Given the description of an element on the screen output the (x, y) to click on. 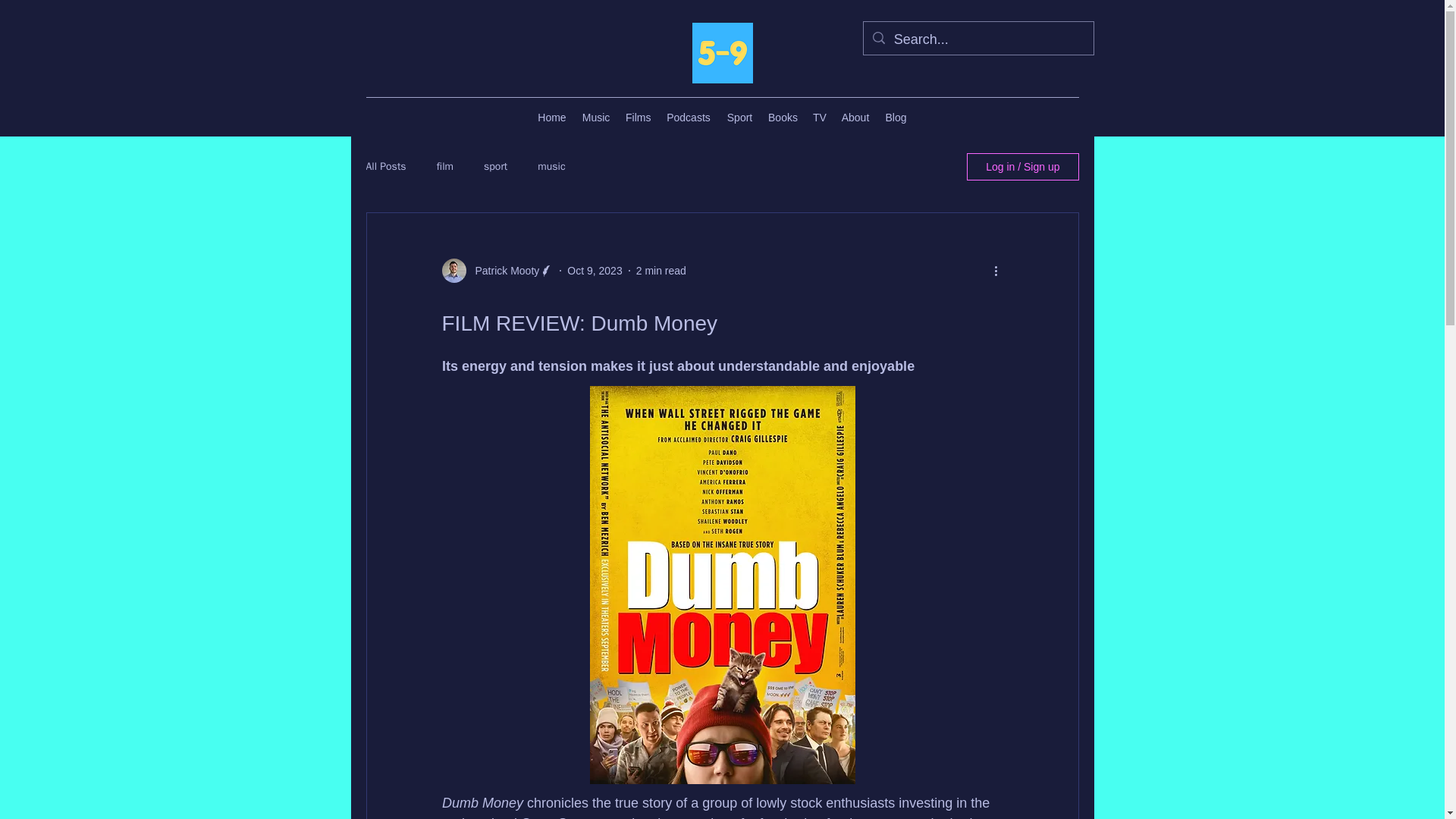
Blog (895, 117)
All Posts (385, 166)
Podcasts (688, 117)
Books (782, 117)
Sport (739, 117)
Patrick Mooty (501, 270)
sport (494, 166)
2 min read (660, 269)
About (854, 117)
Music (595, 117)
TV (818, 117)
music (550, 166)
film (444, 166)
Films (637, 117)
Home (551, 117)
